Given the description of an element on the screen output the (x, y) to click on. 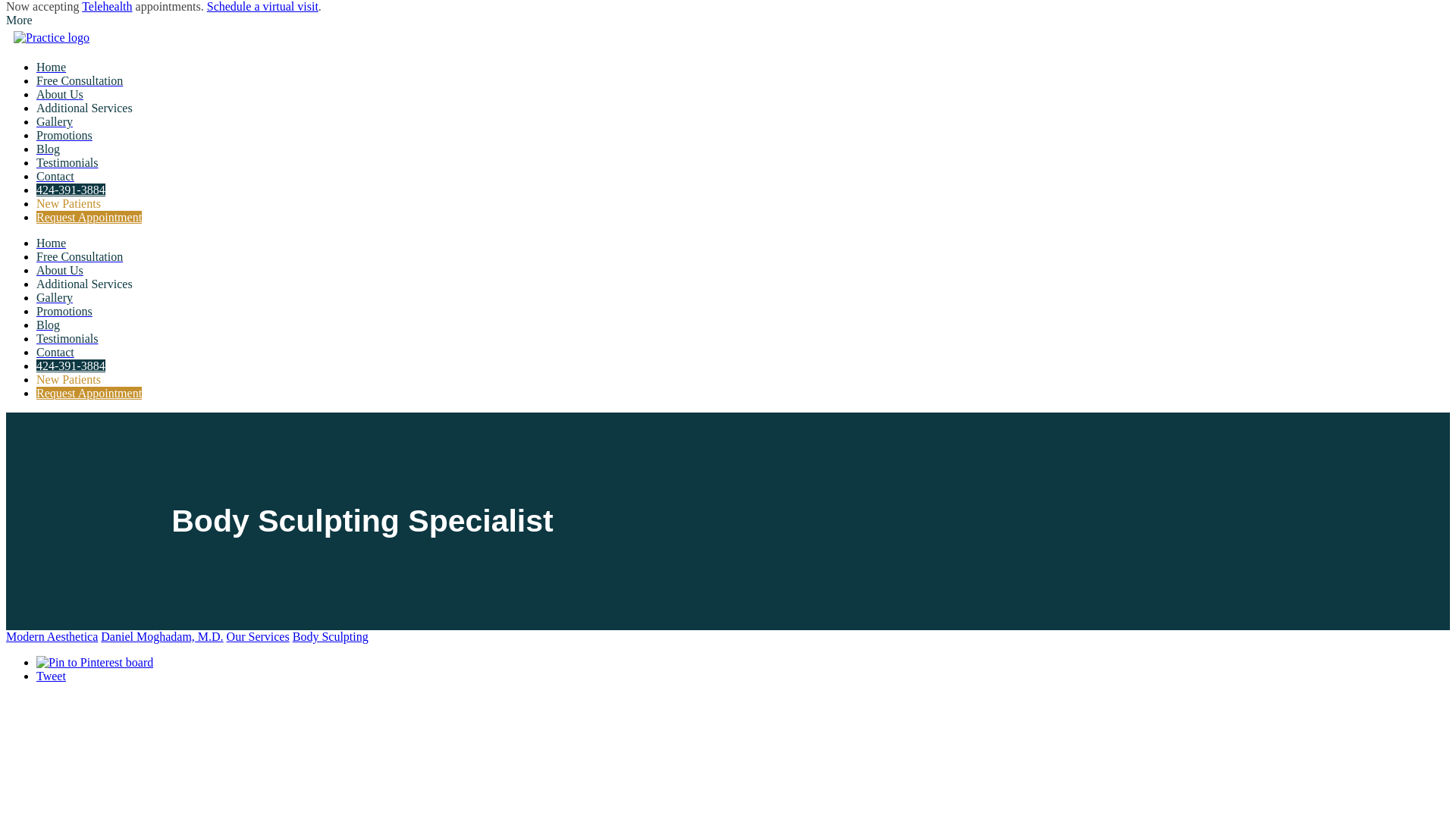
Free Consultation (79, 80)
Additional Services (84, 107)
Schedule a virtual visit (262, 6)
Telehealth (106, 6)
Home (50, 66)
About Us (59, 93)
